Given the description of an element on the screen output the (x, y) to click on. 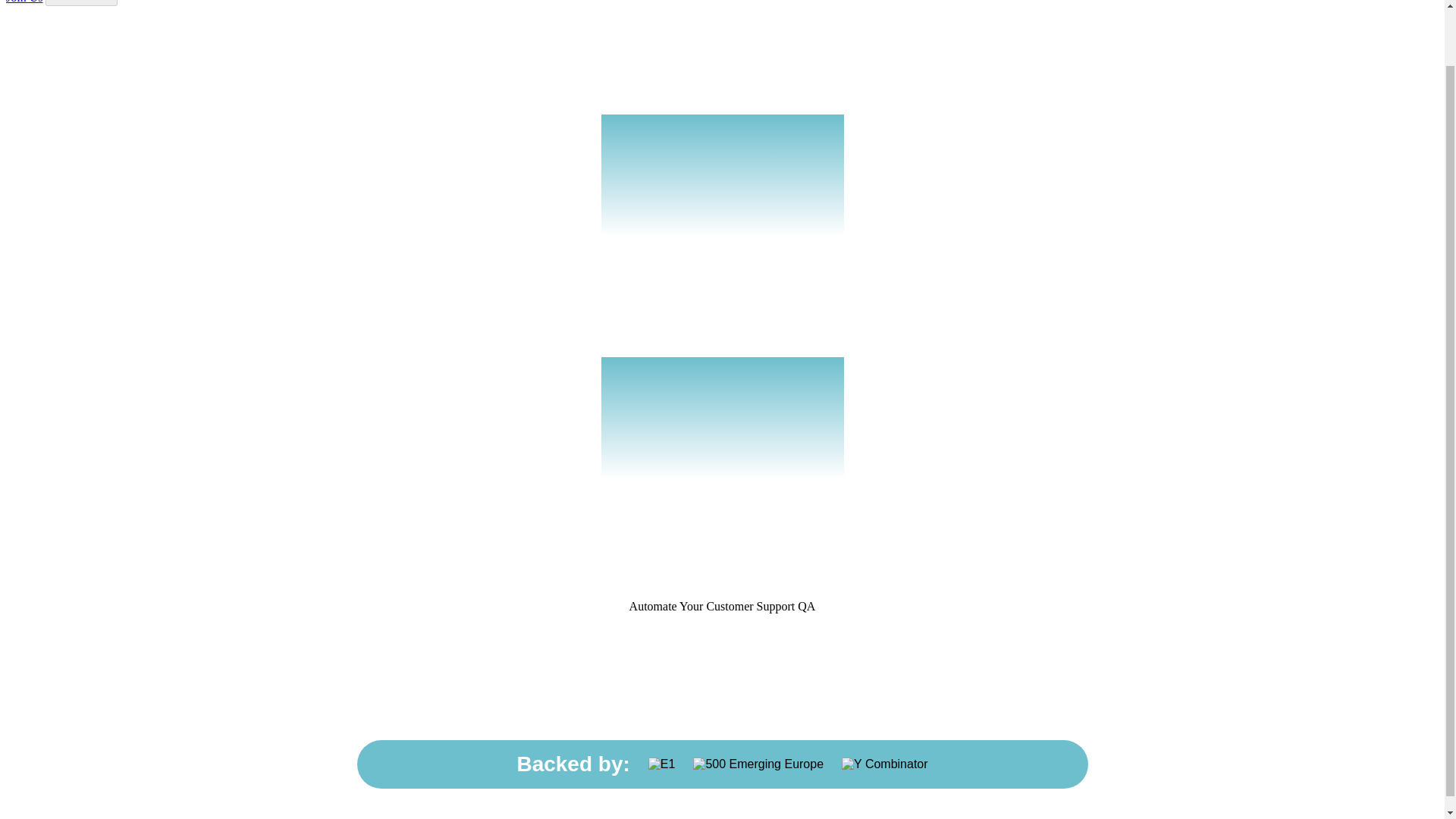
Book a demo (81, 2)
Join Us (23, 2)
